Given the description of an element on the screen output the (x, y) to click on. 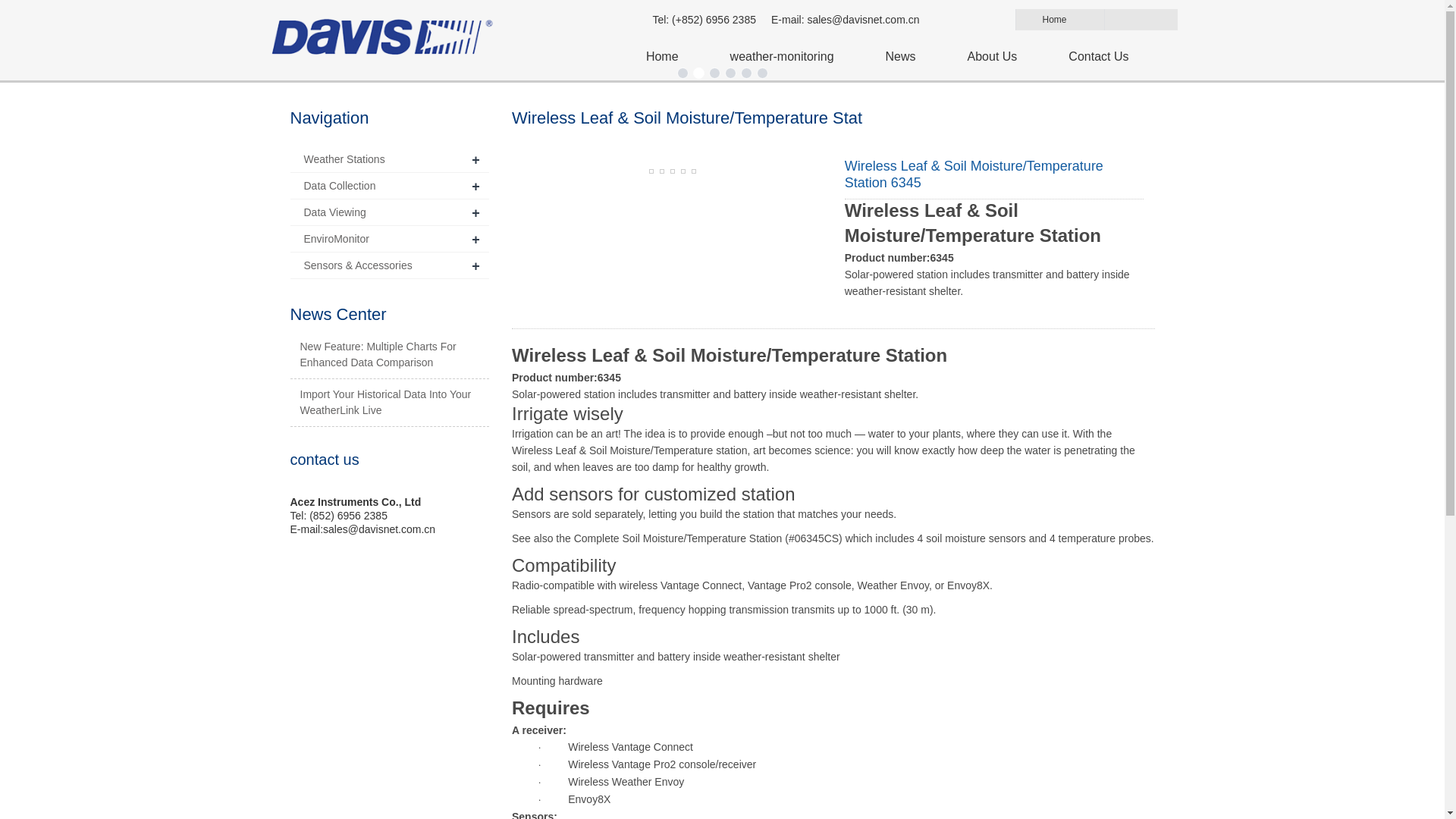
Home (661, 56)
weather-monitoring (781, 56)
Home (1064, 19)
weather-monitoring (781, 56)
